Given the description of an element on the screen output the (x, y) to click on. 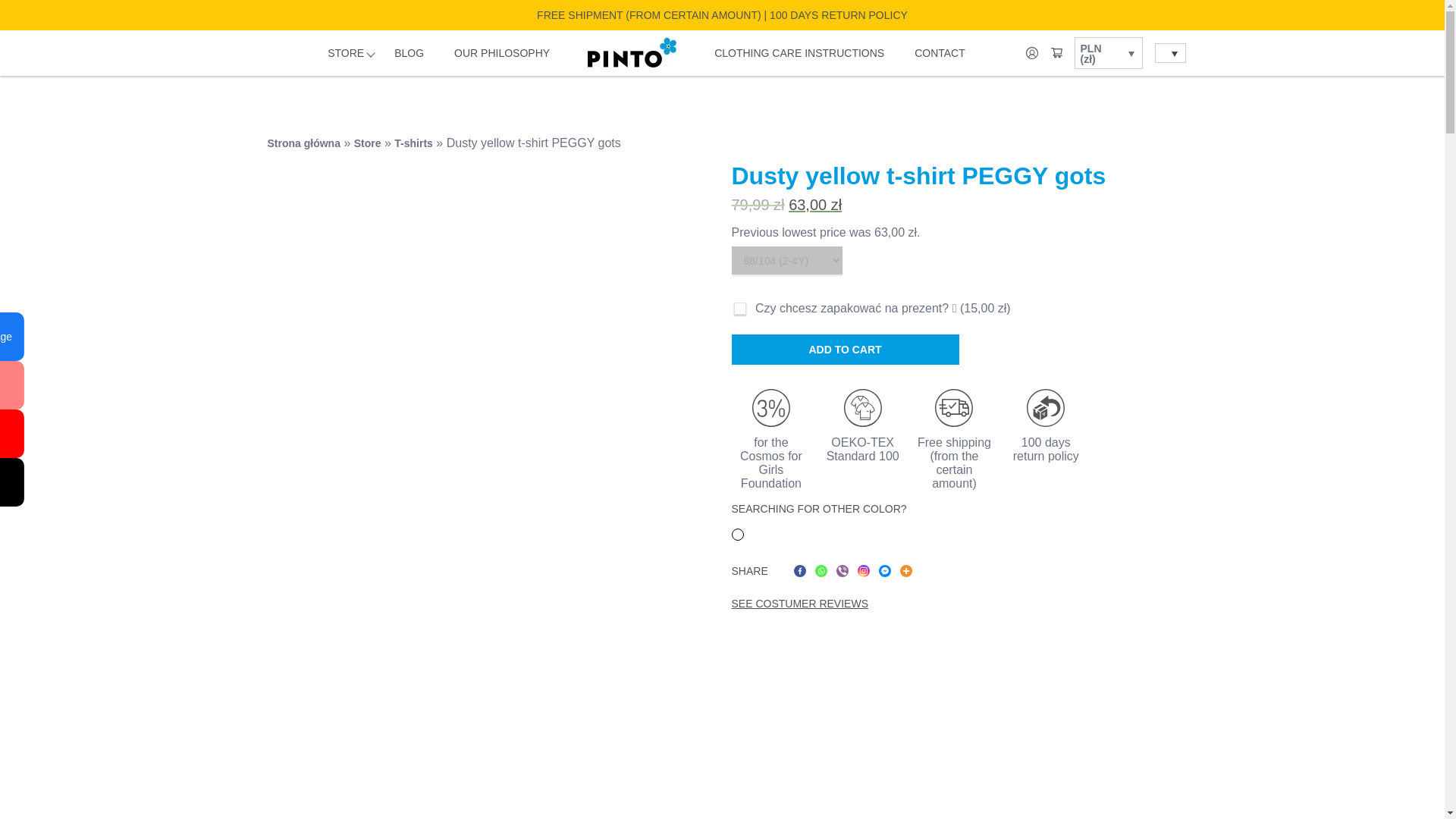
Instagram (863, 571)
Viber (841, 571)
Whatsapp (821, 571)
More (905, 571)
CLOTHING CARE INSTRUCTIONS (798, 53)
Facebook (799, 571)
CONTACT (939, 53)
OUR PHILOSOPHY (502, 53)
1 (739, 308)
